Given the description of an element on the screen output the (x, y) to click on. 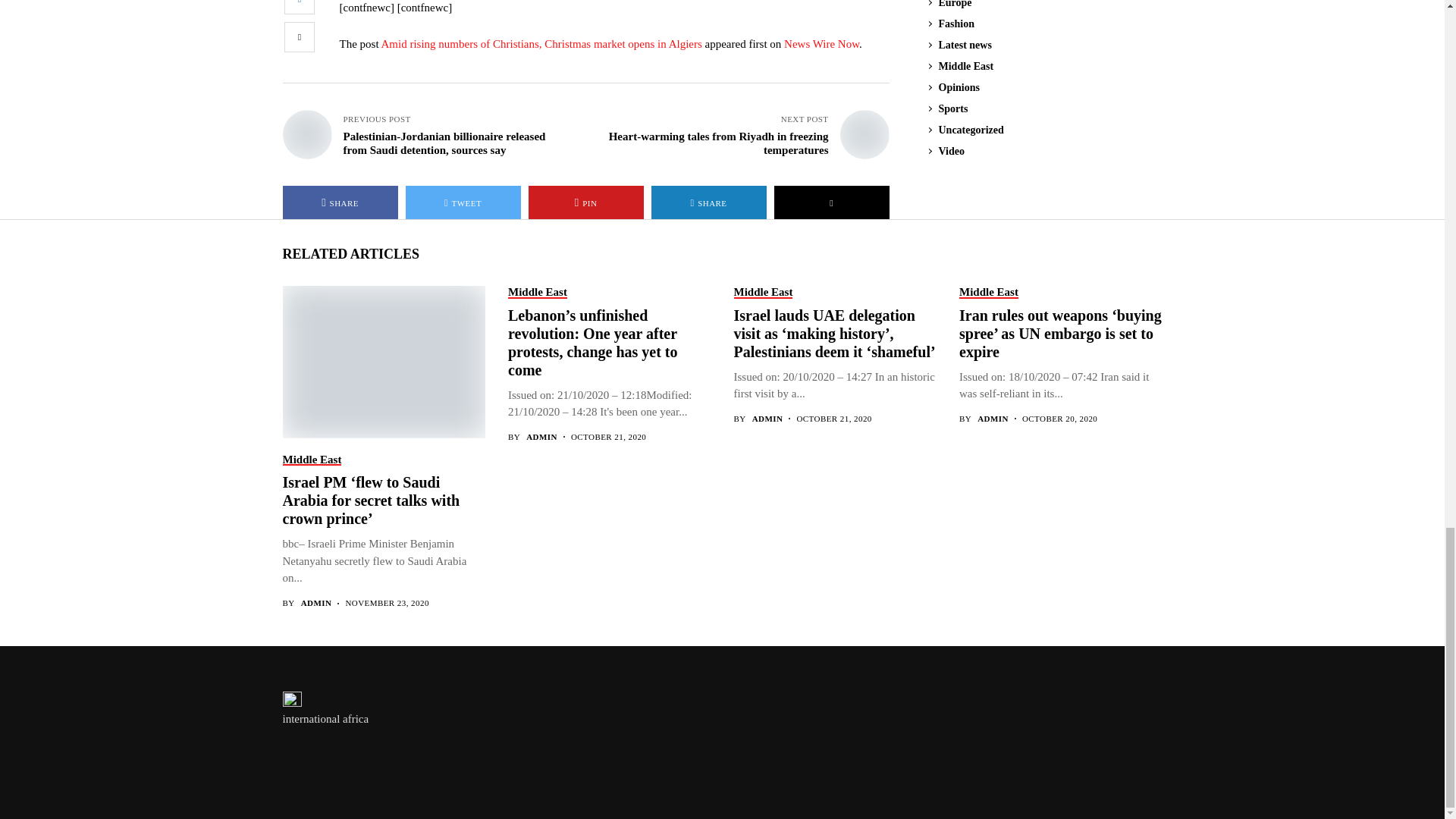
Posts by admin (316, 603)
Posts by admin (767, 419)
Posts by admin (992, 419)
Posts by admin (541, 437)
